Given the description of an element on the screen output the (x, y) to click on. 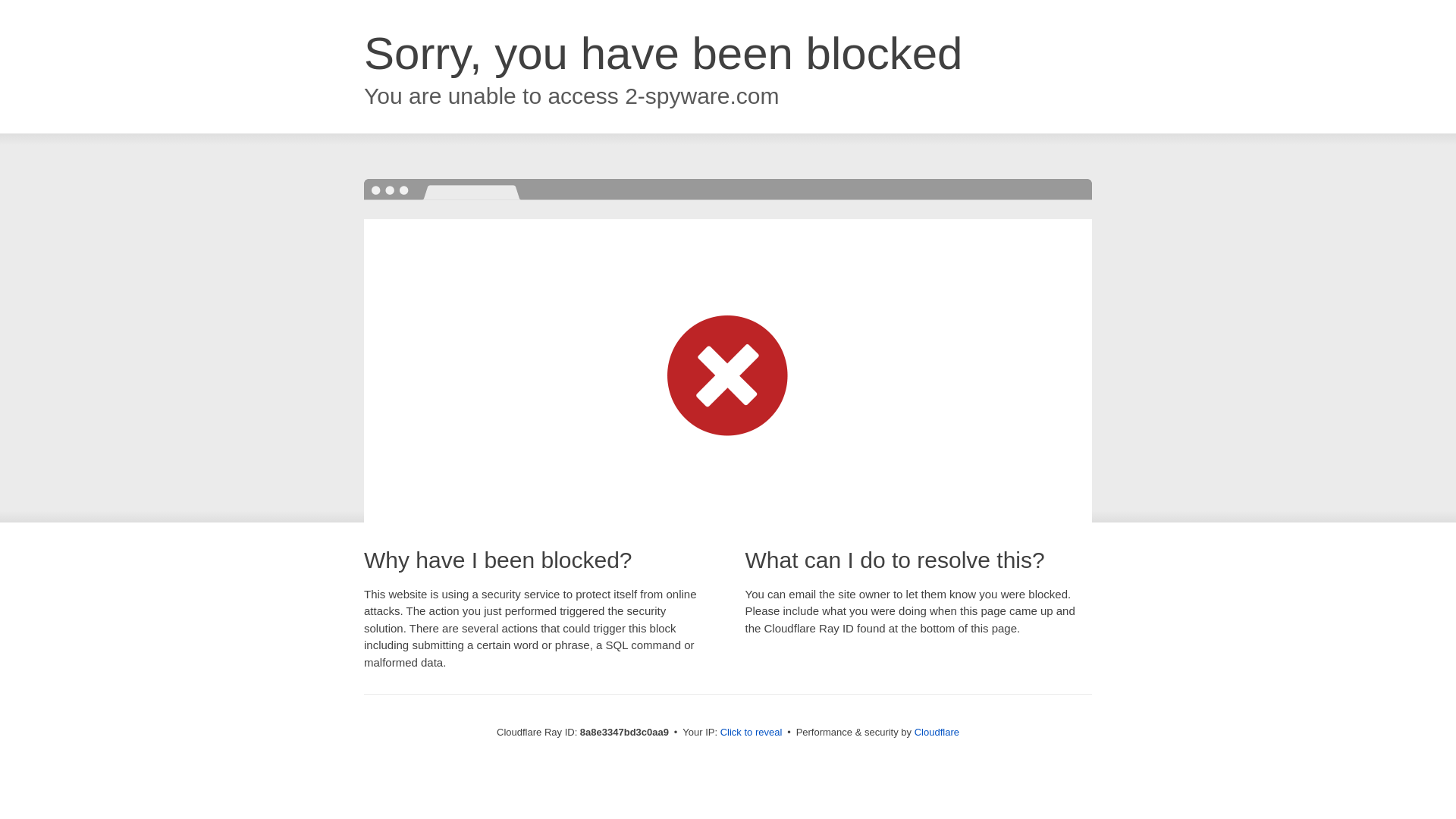
Cloudflare (936, 731)
Click to reveal (751, 732)
